Given the description of an element on the screen output the (x, y) to click on. 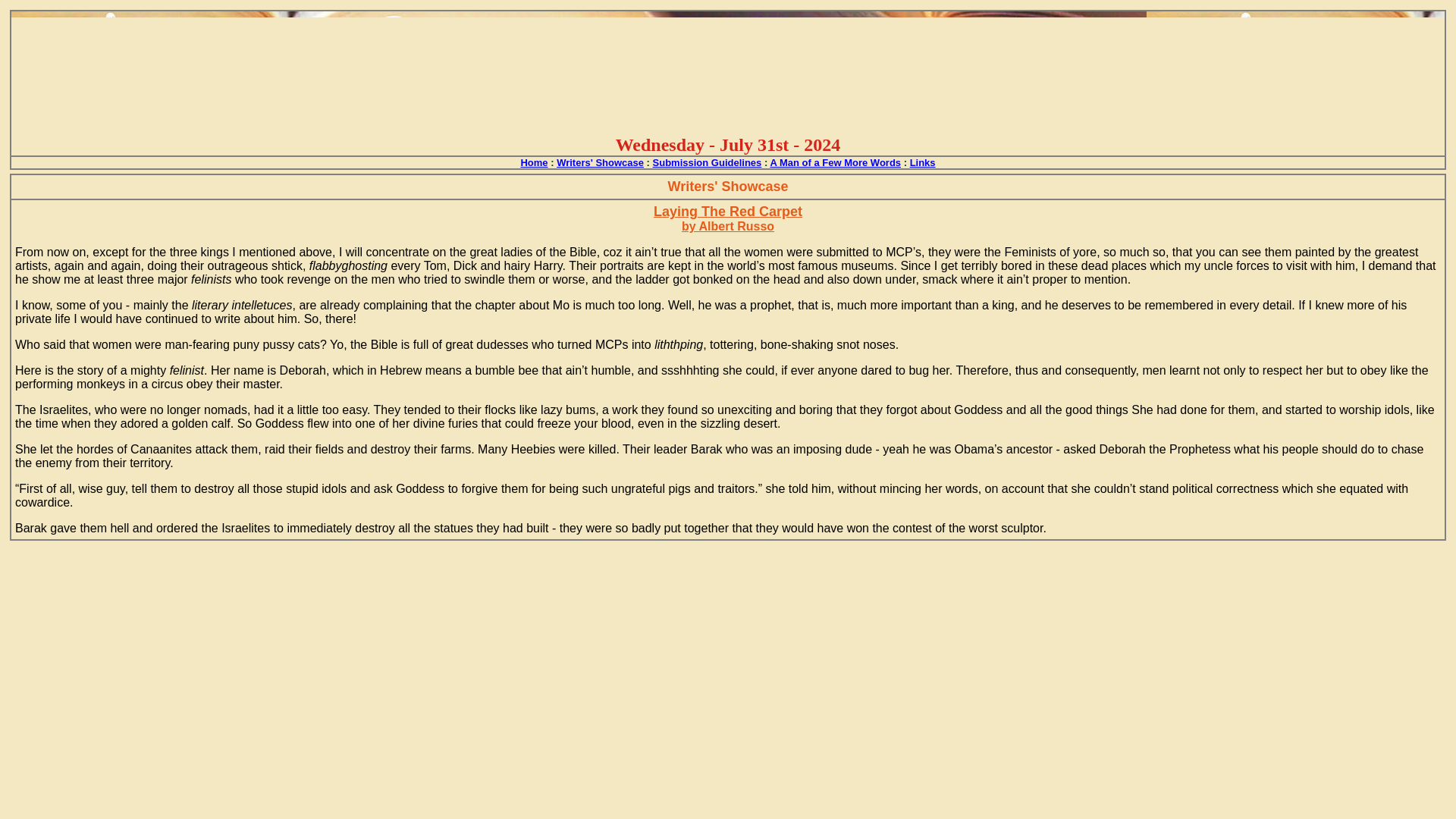
A Man of a Few More Words (835, 161)
Submission Guidelines (706, 161)
Writers' Showcase (599, 161)
Links (923, 161)
Home (533, 161)
